Given the description of an element on the screen output the (x, y) to click on. 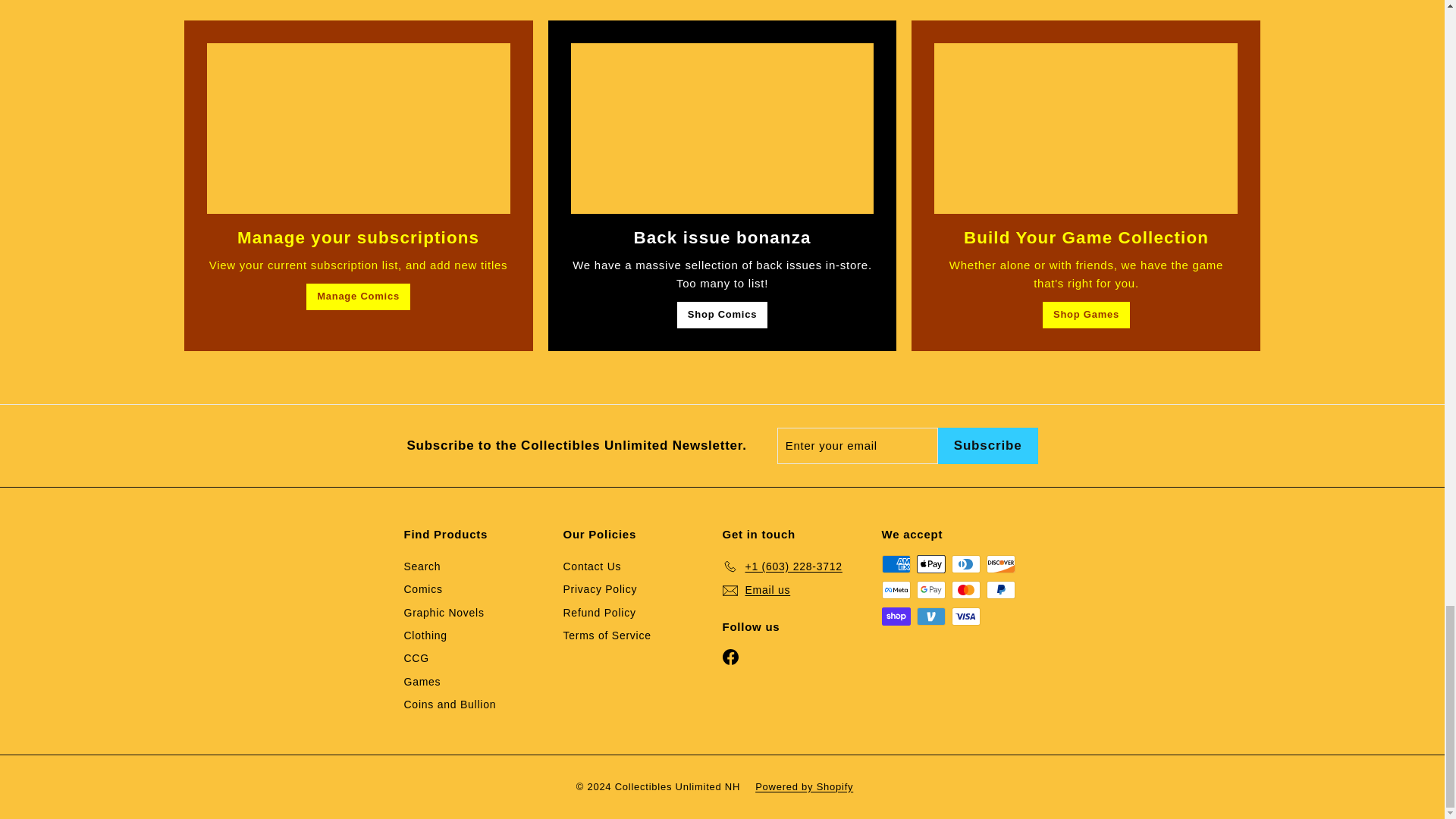
Meta Pay (895, 589)
Google Pay (929, 589)
Mastercard (964, 589)
Venmo (929, 616)
Diners Club (964, 564)
Collectibles Unlimited NH on Facebook (730, 656)
Shop Pay (895, 616)
American Express (895, 564)
Visa (964, 616)
PayPal (999, 589)
Apple Pay (929, 564)
Discover (999, 564)
